Given the description of an element on the screen output the (x, y) to click on. 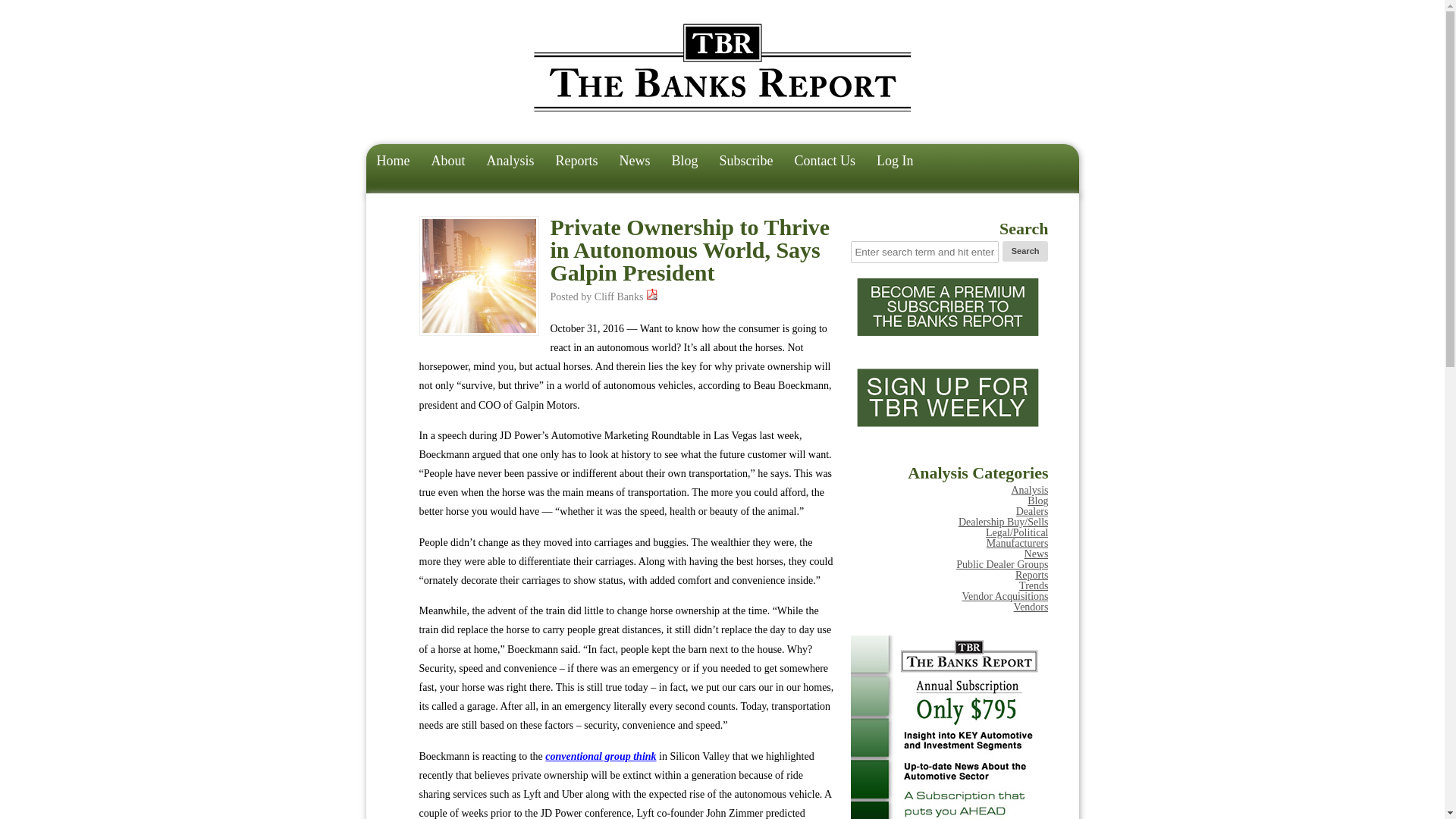
Home (392, 162)
Contact Us (825, 162)
Reports (1031, 574)
Log In (895, 162)
You must login first (652, 296)
You must login first (652, 294)
View all posts by Cliff Banks (618, 296)
Manufacturers (1017, 542)
About (448, 162)
Search (1025, 250)
